Given the description of an element on the screen output the (x, y) to click on. 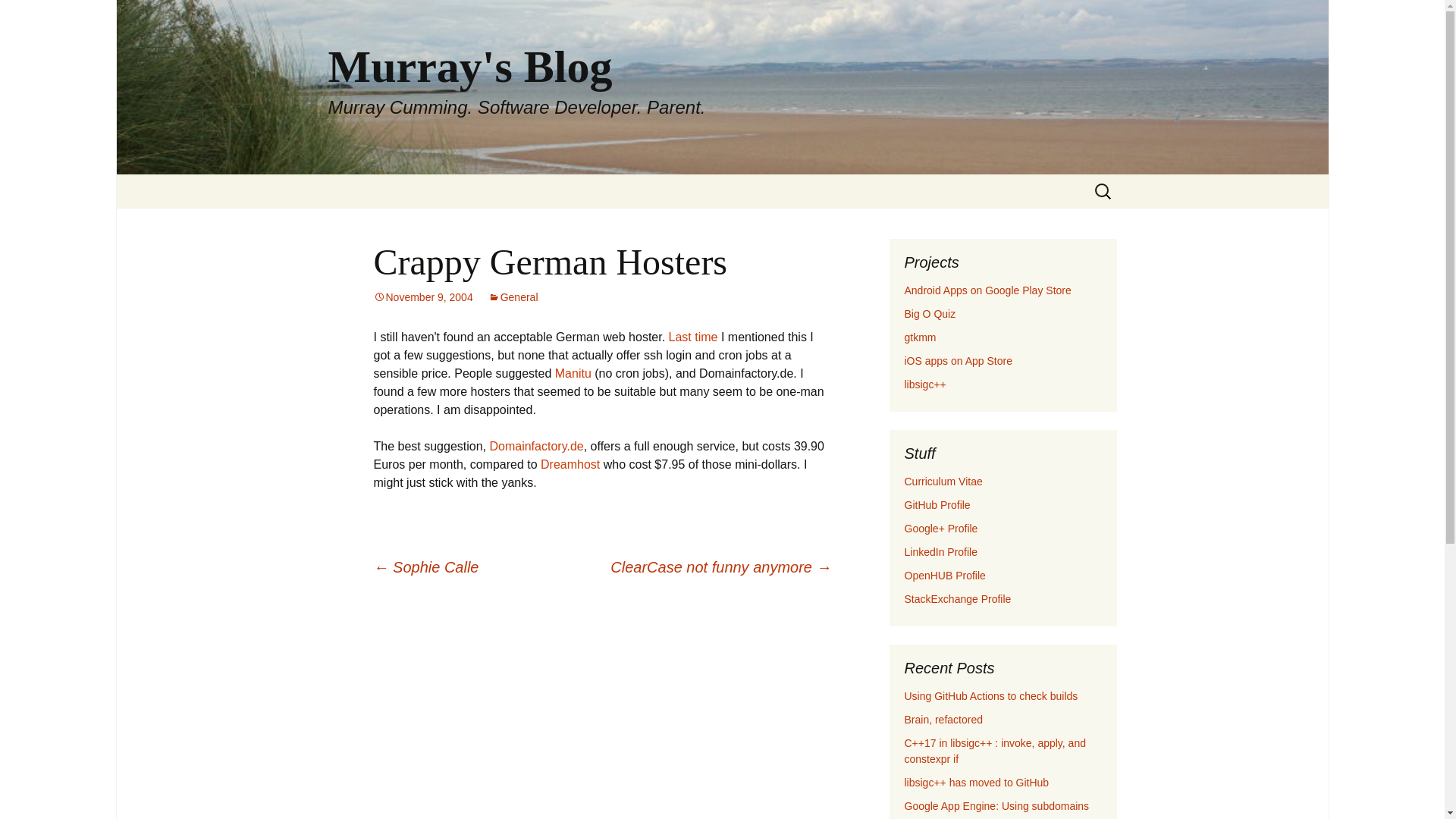
Google App Engine: Using subdomains (996, 806)
Search (18, 15)
Curriculum Vitae (942, 481)
November 9, 2004 (421, 297)
GitHub Profile (936, 504)
Using GitHub Actions to check builds (990, 695)
LinkedIn Profile (940, 551)
iOS apps on App Store (957, 360)
Manitu (572, 373)
Last time (692, 336)
StackExchange Profile (957, 598)
OpenHUB Profile (536, 445)
Big O Quiz (944, 575)
